Given the description of an element on the screen output the (x, y) to click on. 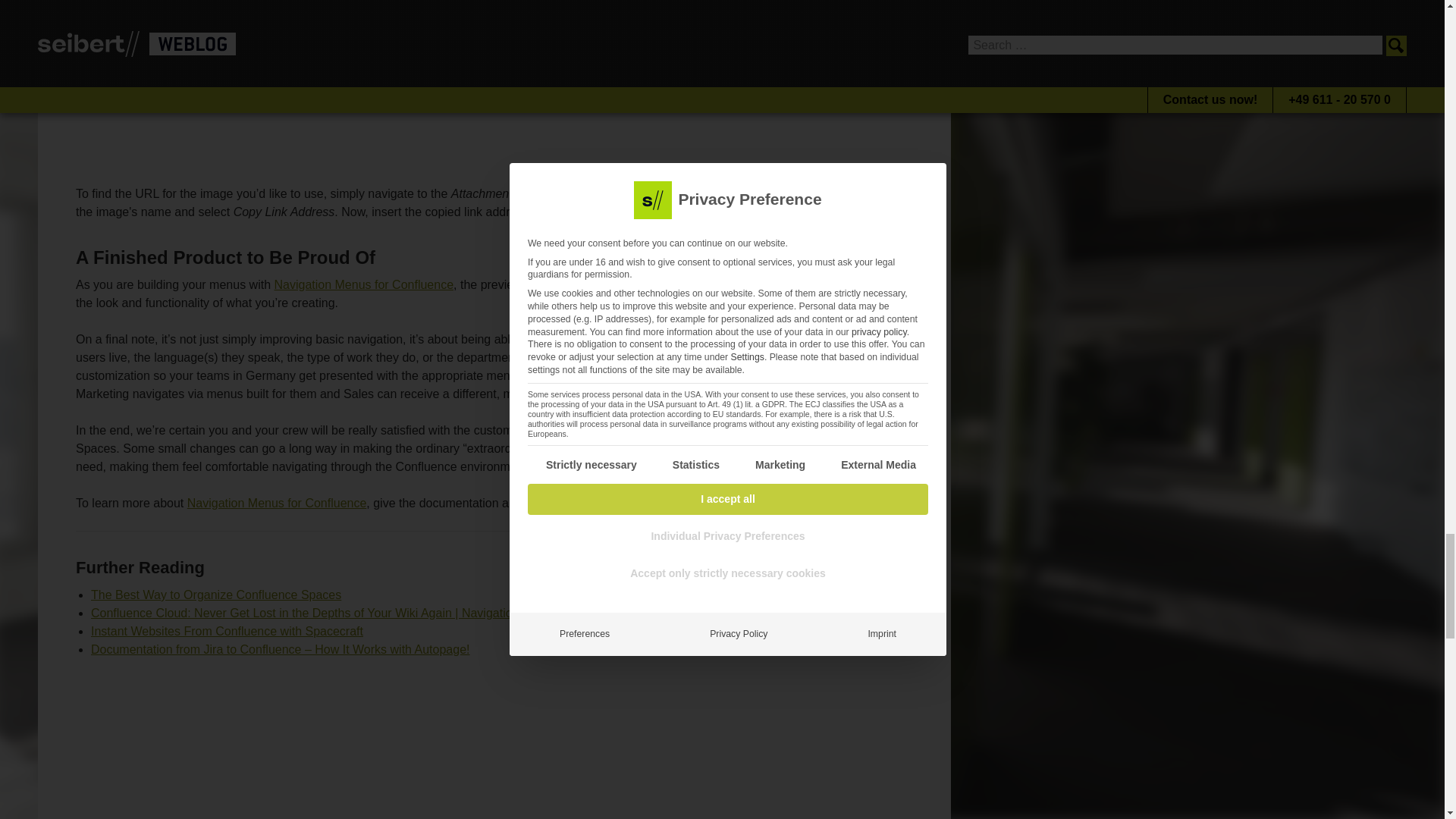
Navigation Menus for Confluence (276, 502)
Navigation Menus for Confluence (362, 284)
Spacecraft - The ultimate theming tool for Confluence (494, 740)
The Best Way to Organize Confluence Spaces (215, 594)
Instant Websites From Confluence with Spacecraft (226, 631)
